Given the description of an element on the screen output the (x, y) to click on. 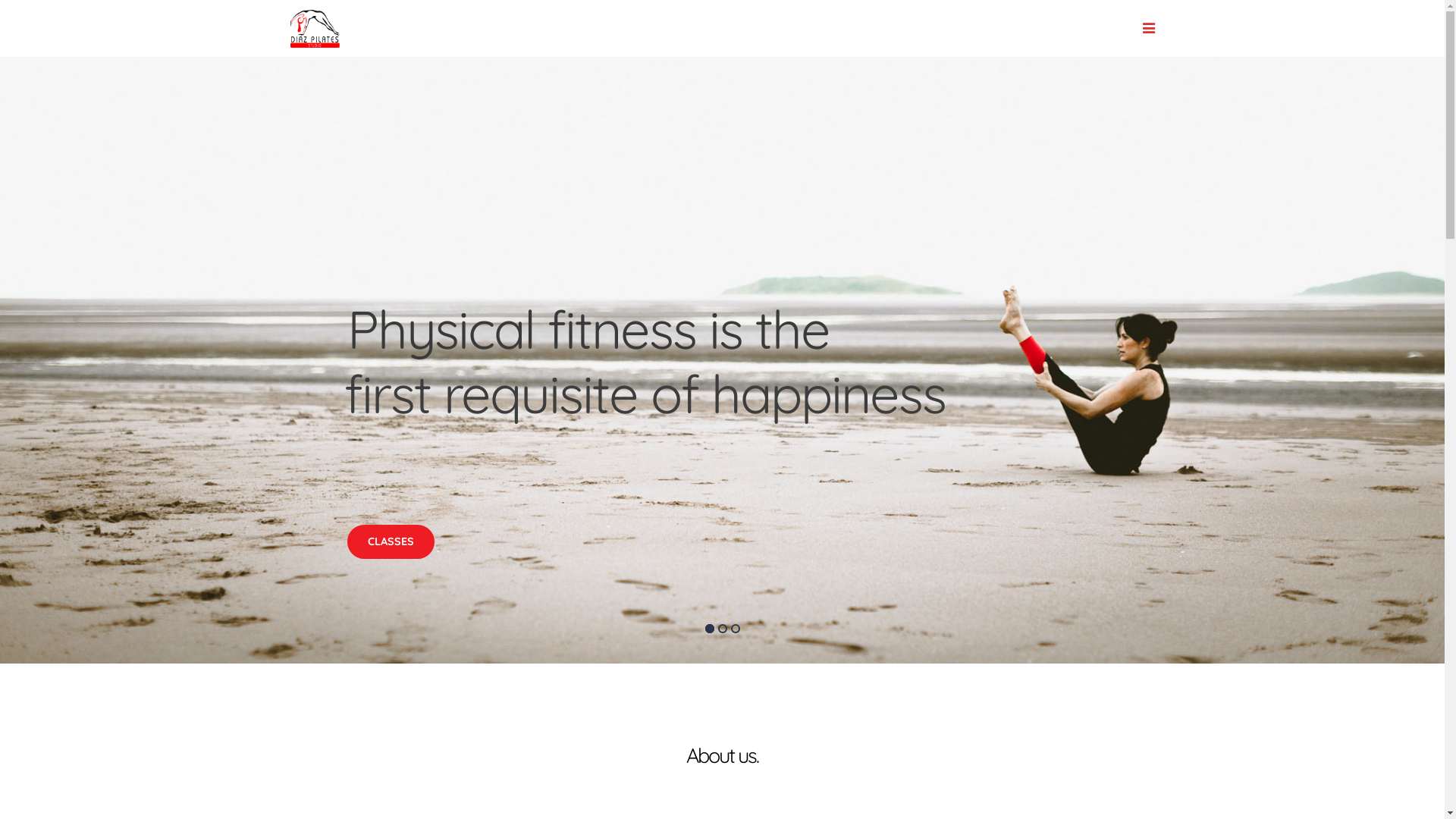
CLASSES Element type: text (390, 541)
